Given the description of an element on the screen output the (x, y) to click on. 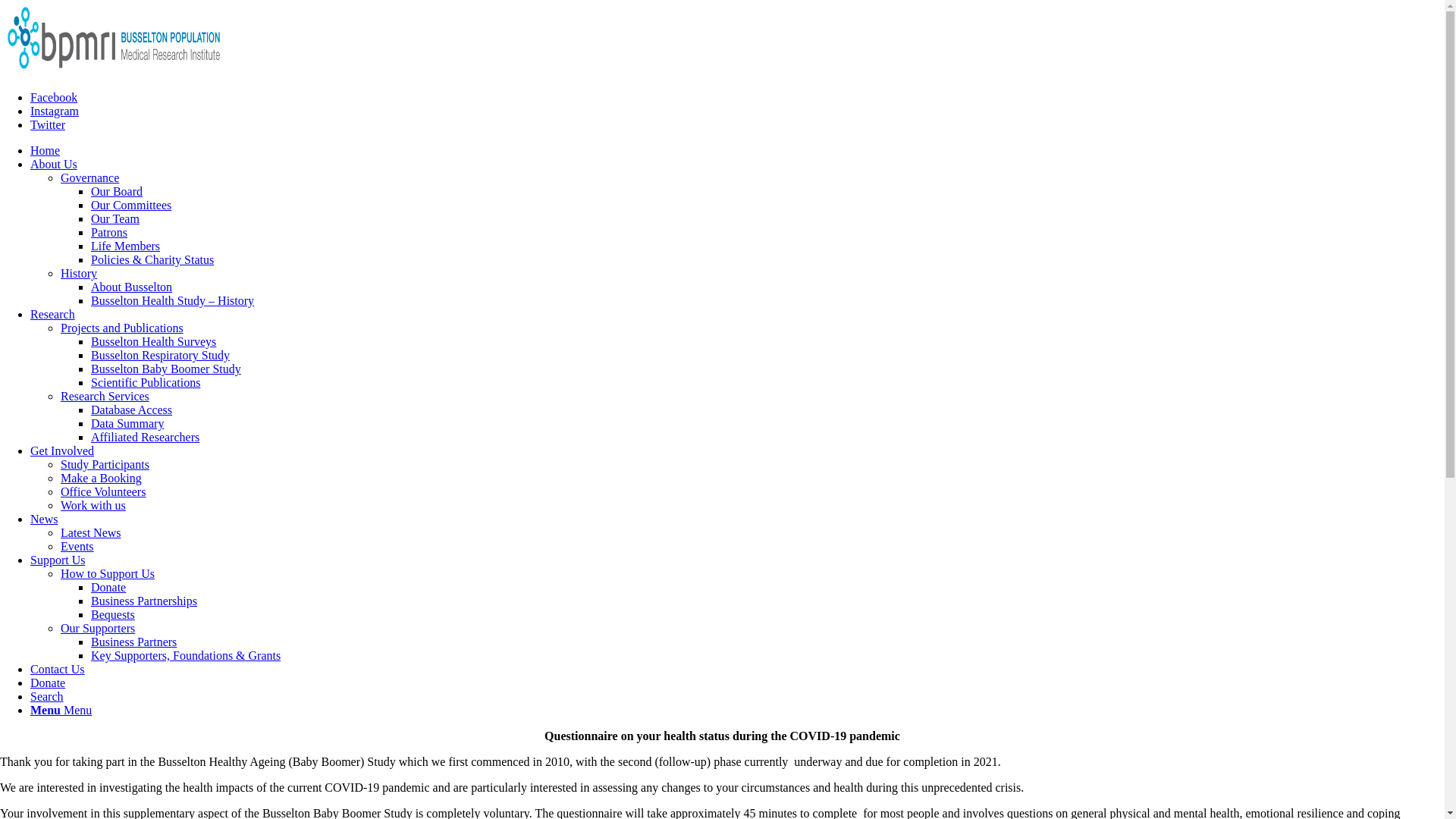
Work with us Element type: text (92, 504)
Key Supporters, Foundations & Grants Element type: text (185, 655)
Bequests Element type: text (112, 614)
News Element type: text (43, 518)
Make a Booking Element type: text (100, 477)
Get Involved Element type: text (62, 450)
Patrons Element type: text (109, 231)
Affiliated Researchers Element type: text (145, 436)
Home Element type: text (44, 150)
Life Members Element type: text (125, 245)
Facebook Element type: text (53, 97)
Busselton Baby Boomer Study Element type: text (166, 368)
Governance Element type: text (89, 177)
About Busselton Element type: text (131, 286)
Database Access Element type: text (131, 409)
Our Supporters Element type: text (97, 627)
Data Summary Element type: text (127, 423)
Contact Us Element type: text (57, 668)
Our Committees Element type: text (131, 204)
Policies & Charity Status Element type: text (152, 259)
Research Element type: text (52, 313)
Support Us Element type: text (57, 559)
Search Element type: text (46, 696)
Scientific Publications Element type: text (145, 382)
bpmri-logo-with-padding Element type: hover (113, 37)
Business Partnerships Element type: text (144, 600)
Projects and Publications Element type: text (121, 327)
Busselton Health Surveys Element type: text (153, 341)
Donate Element type: text (47, 682)
How to Support Us Element type: text (107, 573)
Latest News Element type: text (90, 532)
Donate Element type: text (108, 586)
Study Participants Element type: text (104, 464)
Research Services Element type: text (104, 395)
History Element type: text (78, 272)
Our Board Element type: text (116, 191)
Busselton Respiratory Study Element type: text (160, 354)
Our Team Element type: text (115, 218)
Events Element type: text (77, 545)
Office Volunteers Element type: text (102, 491)
Instagram Element type: text (54, 110)
Menu Menu Element type: text (60, 709)
About Us Element type: text (53, 163)
Business Partners Element type: text (133, 641)
Twitter Element type: text (47, 124)
